Given the description of an element on the screen output the (x, y) to click on. 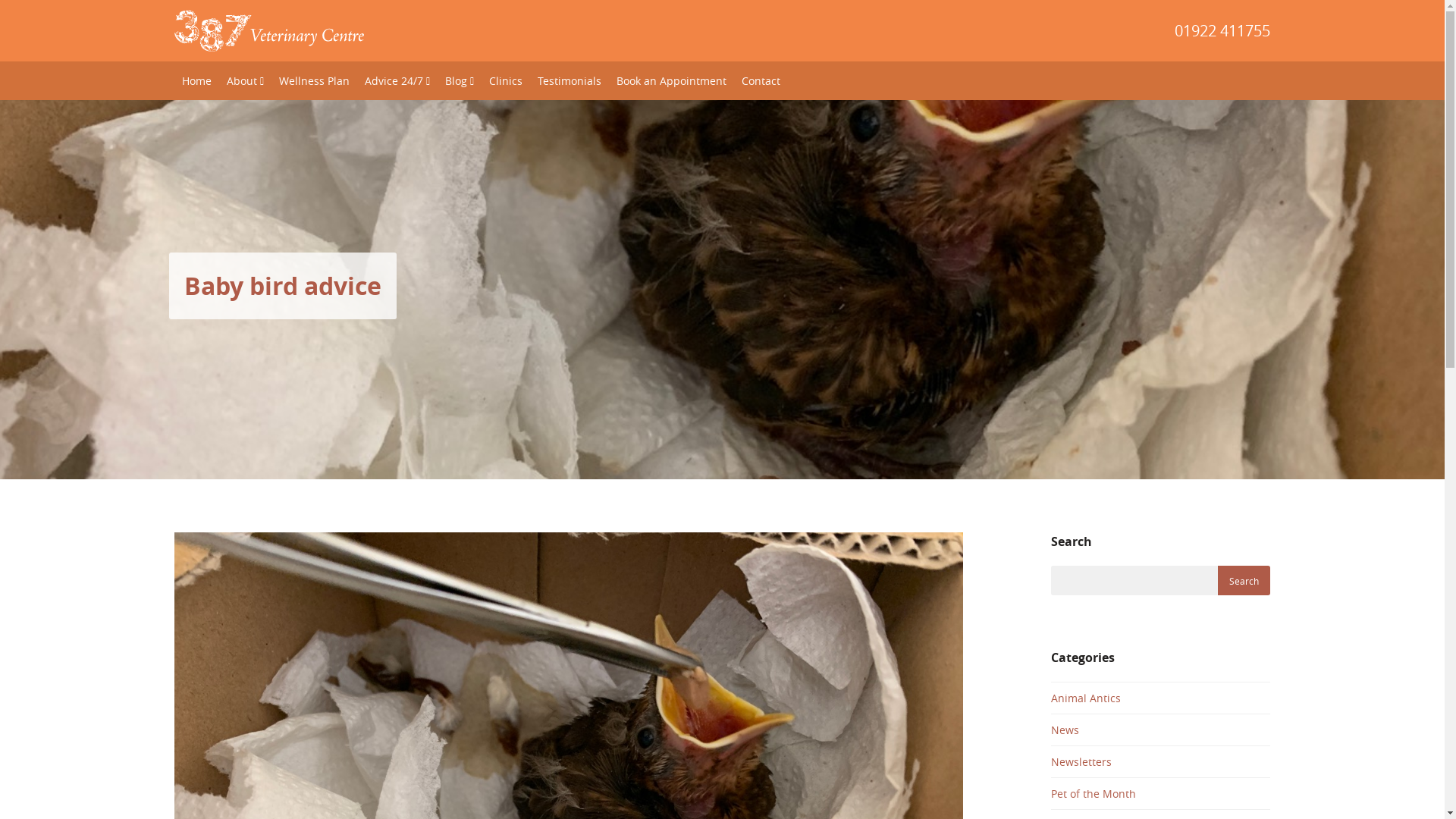
Home Element type: text (196, 80)
Wellness Plan Element type: text (314, 80)
Testimonials Element type: text (569, 80)
Newsletters Element type: text (1160, 761)
Search Element type: text (1243, 580)
01922 411755 Element type: text (816, 30)
Contact Element type: text (760, 80)
Clinics Element type: text (505, 80)
Pet of the Month Element type: text (1160, 793)
Book an Appointment Element type: text (671, 80)
Animal Antics Element type: text (1160, 697)
News Element type: text (1160, 729)
